Given the description of an element on the screen output the (x, y) to click on. 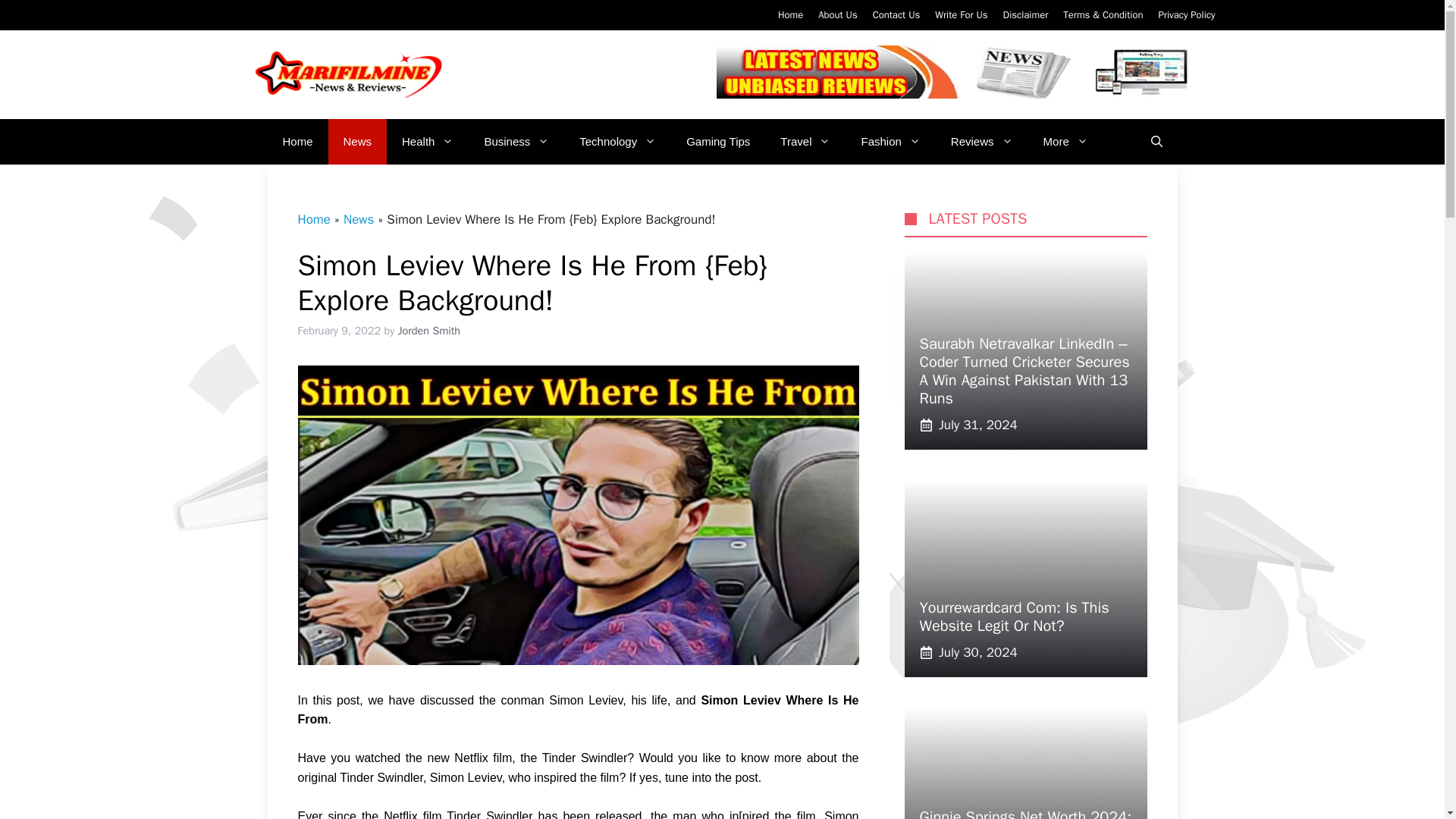
About Us (837, 14)
Fashion (889, 141)
View all posts by Jorden Smith (428, 330)
Health (427, 141)
Disclaimer (1025, 14)
Reviews (981, 141)
Contact Us (896, 14)
Privacy Policy (1185, 14)
Write For Us (960, 14)
Gaming Tips (718, 141)
Home (790, 14)
Travel (805, 141)
Business (516, 141)
Technology (617, 141)
News (358, 141)
